Given the description of an element on the screen output the (x, y) to click on. 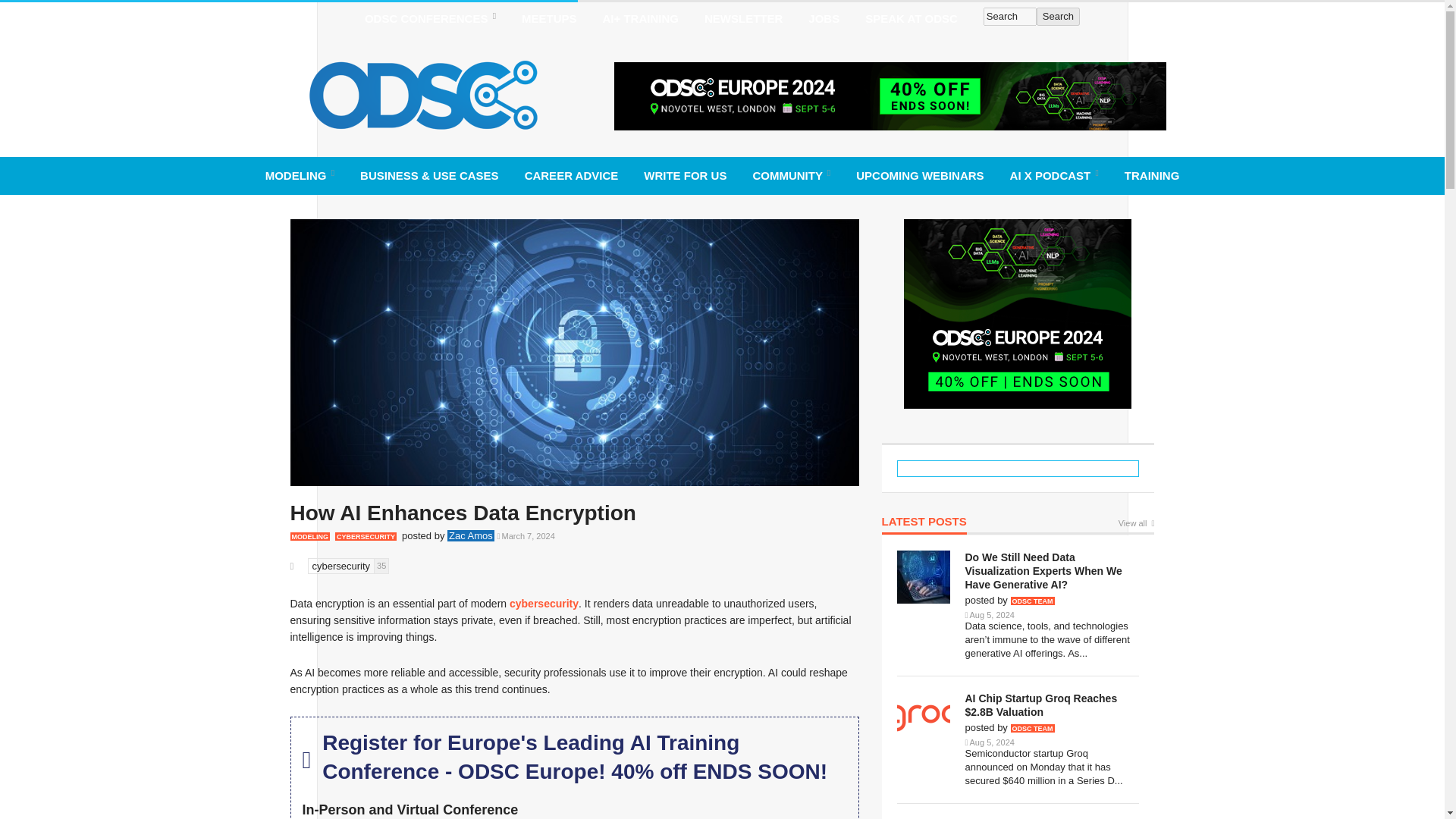
Speak at ODSC (911, 18)
Search (1058, 16)
Modeling (299, 175)
MEETUPS (548, 18)
MEETUPS (548, 18)
Search (1010, 16)
WRITE FOR US (684, 175)
ODSC CONFERENCES (430, 18)
JOBS (822, 18)
NEWSLETTER (742, 18)
